Given the description of an element on the screen output the (x, y) to click on. 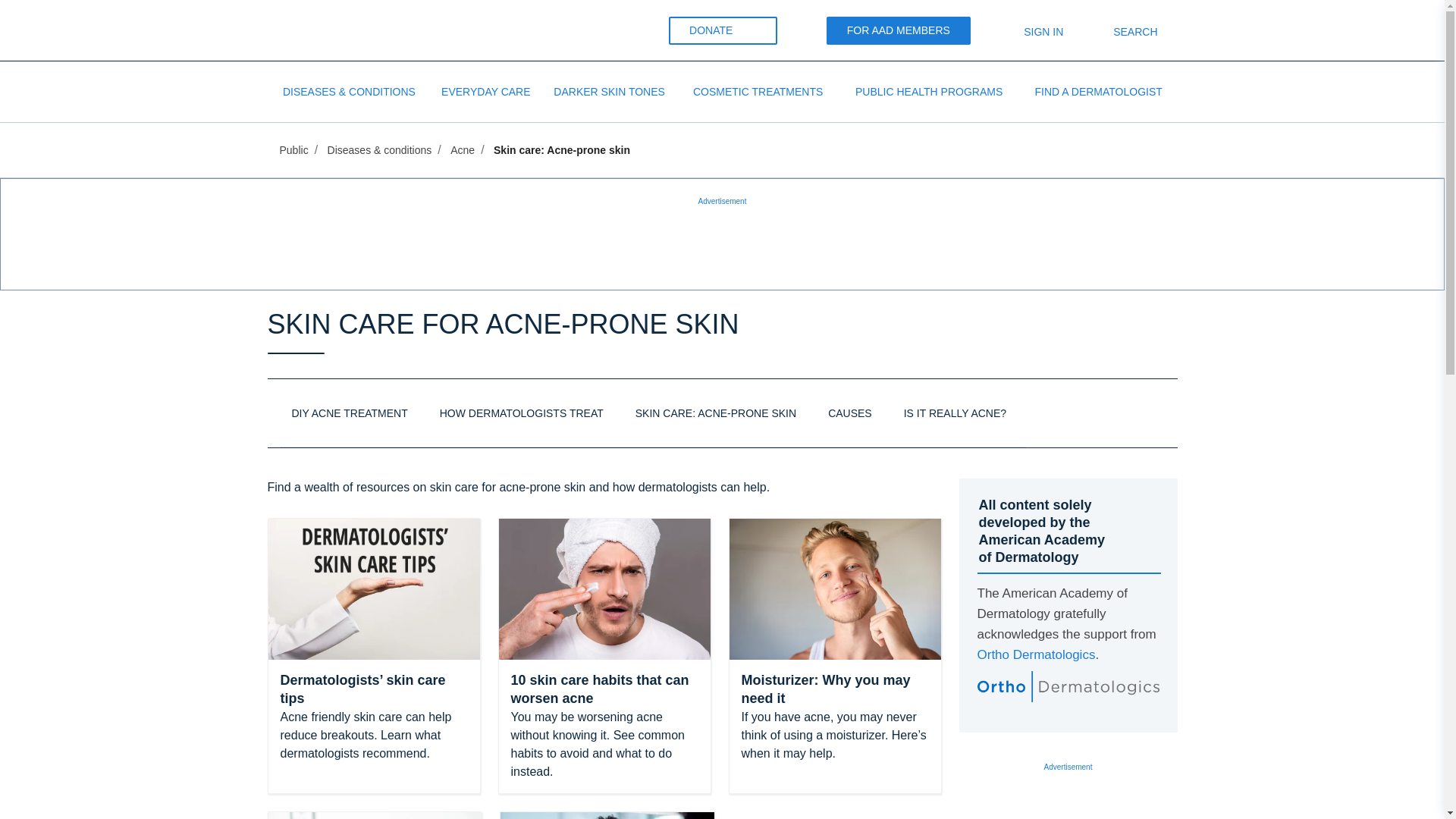
DONATE (722, 30)
Go to AAD Home (321, 30)
DARKER SKIN TONES (609, 91)
PUBLIC HEALTH PROGRAMS (929, 91)
FIND A DERMATOLOGIST (1098, 91)
EVERYDAY CARE (485, 91)
SEARCH (1121, 31)
Go to AAD Home (336, 29)
SIGN IN (1030, 31)
FOR AAD MEMBERS (899, 30)
